Given the description of an element on the screen output the (x, y) to click on. 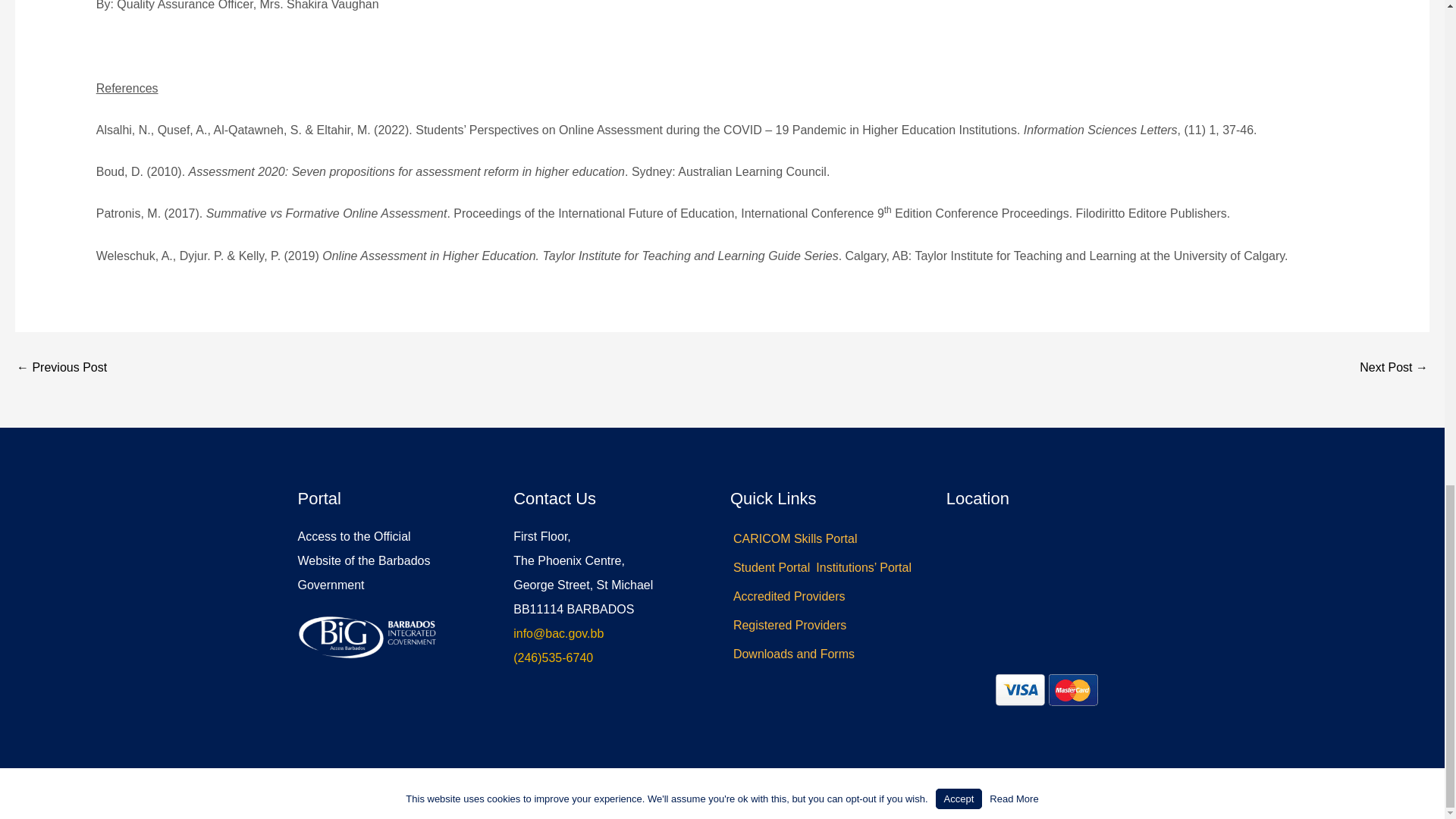
Quality Conscience: Doing the Right Thing (1393, 367)
The BAC Welcomes Its New Board Member, Ms. Penny Linton (61, 367)
